Given the description of an element on the screen output the (x, y) to click on. 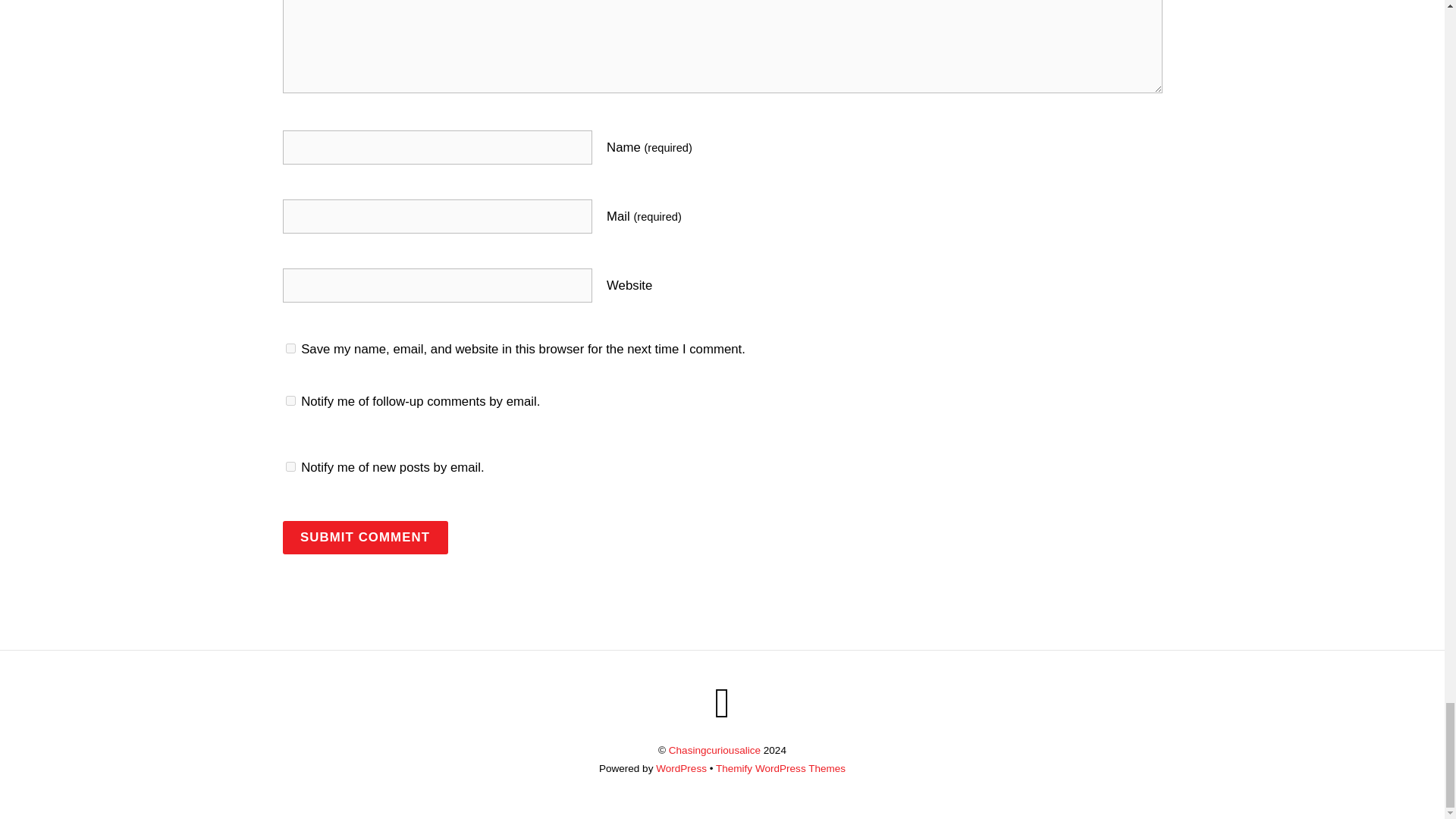
subscribe (290, 466)
WordPress (681, 767)
yes (290, 347)
Themify WordPress Themes (780, 767)
Submit Comment (364, 537)
Chasingcuriousalice (714, 749)
subscribe (290, 400)
Submit Comment (364, 537)
